Given the description of an element on the screen output the (x, y) to click on. 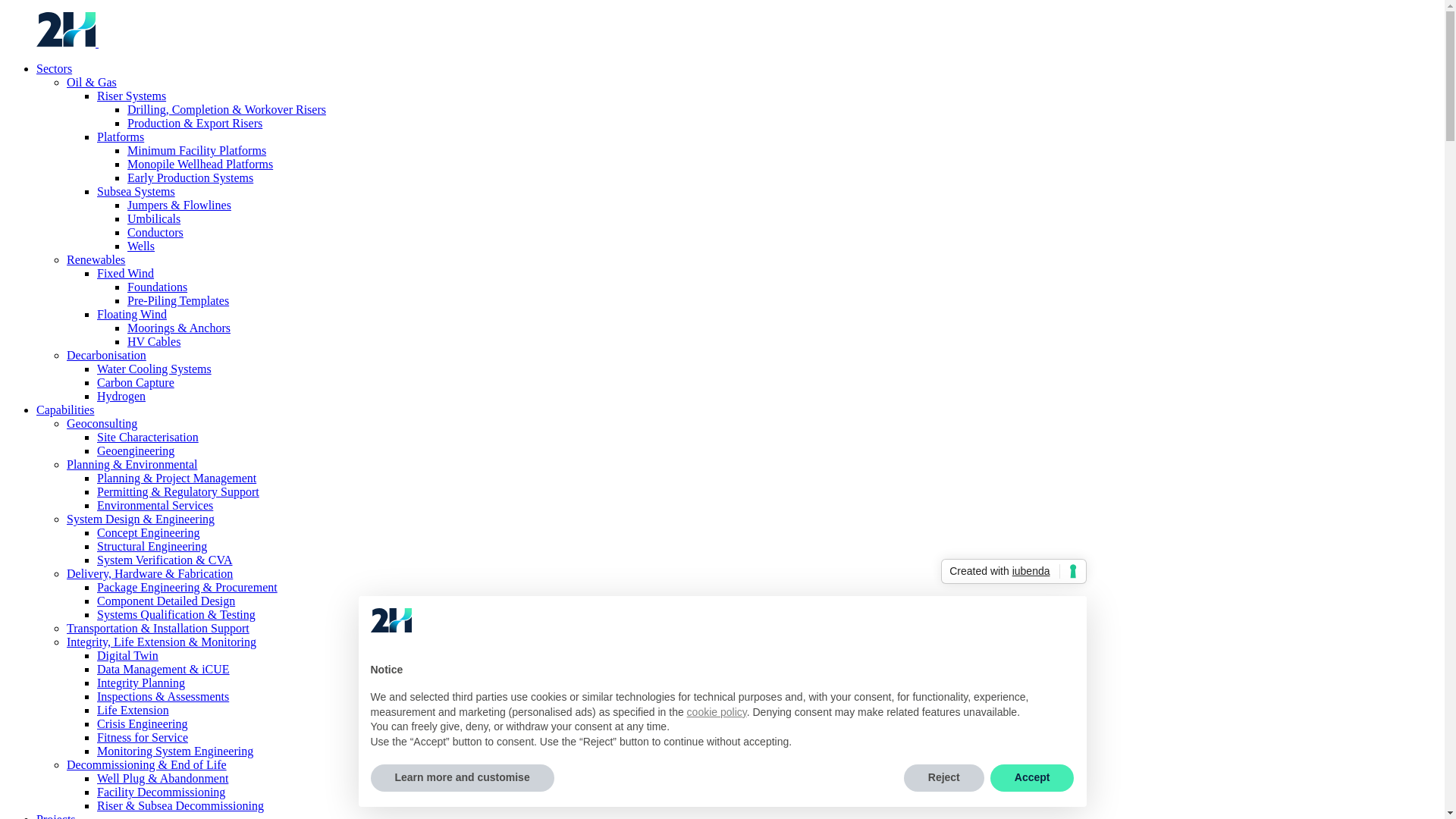
Hydrogen Element type: text (121, 395)
Facility Decommissioning Element type: text (161, 791)
Data Management & iCUE Element type: text (163, 668)
Monopile Wellhead Platforms Element type: text (200, 163)
Geoengineering Element type: text (135, 450)
Concept Engineering Element type: text (148, 532)
Carbon Capture Element type: text (135, 382)
Learn more and customise Element type: text (461, 777)
2H home Element type: hover (127, 42)
Created with iubenda Element type: text (1013, 571)
Planning & Environmental Element type: text (131, 464)
Digital Twin Element type: text (127, 655)
Accept Element type: text (1032, 777)
Transportation & Installation Support Element type: text (157, 627)
Drilling, Completion & Workover Risers Element type: text (226, 109)
Decarbonisation Element type: text (106, 354)
cookie policy Element type: text (716, 712)
Early Production Systems Element type: text (190, 177)
Well Plug & Abandonment Element type: text (162, 777)
Floating Wind Element type: text (131, 313)
Moorings & Anchors Element type: text (178, 327)
Platforms Element type: text (120, 136)
Minimum Facility Platforms Element type: text (196, 150)
Monitoring System Engineering Element type: text (175, 750)
Pre-Piling Templates Element type: text (178, 300)
Planning & Project Management Element type: text (176, 477)
Structural Engineering Element type: text (152, 545)
Reject Element type: text (943, 777)
Renewables Element type: text (95, 259)
Crisis Engineering Element type: text (142, 723)
Inspections & Assessments Element type: text (163, 696)
Riser Systems Element type: text (131, 95)
System Verification & CVA Element type: text (164, 559)
Permitting & Regulatory Support Element type: text (178, 491)
Decommissioning & End of Life Element type: text (146, 764)
Component Detailed Design Element type: text (166, 600)
Fitness for Service Element type: text (142, 737)
Oil & Gas Element type: text (91, 81)
Production & Export Risers Element type: text (194, 122)
Subsea Systems Element type: text (136, 191)
Jumpers & Flowlines Element type: text (179, 204)
2H home Element type: hover (67, 42)
Geoconsulting Element type: text (101, 423)
Integrity Planning Element type: text (141, 682)
HV Cables Element type: text (153, 341)
Foundations Element type: text (157, 286)
Package Engineering & Procurement Element type: text (187, 586)
Environmental Services Element type: text (155, 504)
Wells Element type: text (140, 245)
Life Extension Element type: text (133, 709)
Umbilicals Element type: text (153, 218)
Fixed Wind Element type: text (125, 272)
Site Characterisation Element type: text (147, 436)
Conductors Element type: text (155, 231)
System Design & Engineering Element type: text (140, 518)
Integrity, Life Extension & Monitoring Element type: text (161, 641)
Capabilities Element type: text (65, 409)
Water Cooling Systems Element type: text (154, 368)
Systems Qualification & Testing Element type: text (176, 614)
Sectors Element type: text (54, 68)
Riser & Subsea Decommissioning Element type: text (180, 805)
Delivery, Hardware & Fabrication Element type: text (149, 573)
